Given the description of an element on the screen output the (x, y) to click on. 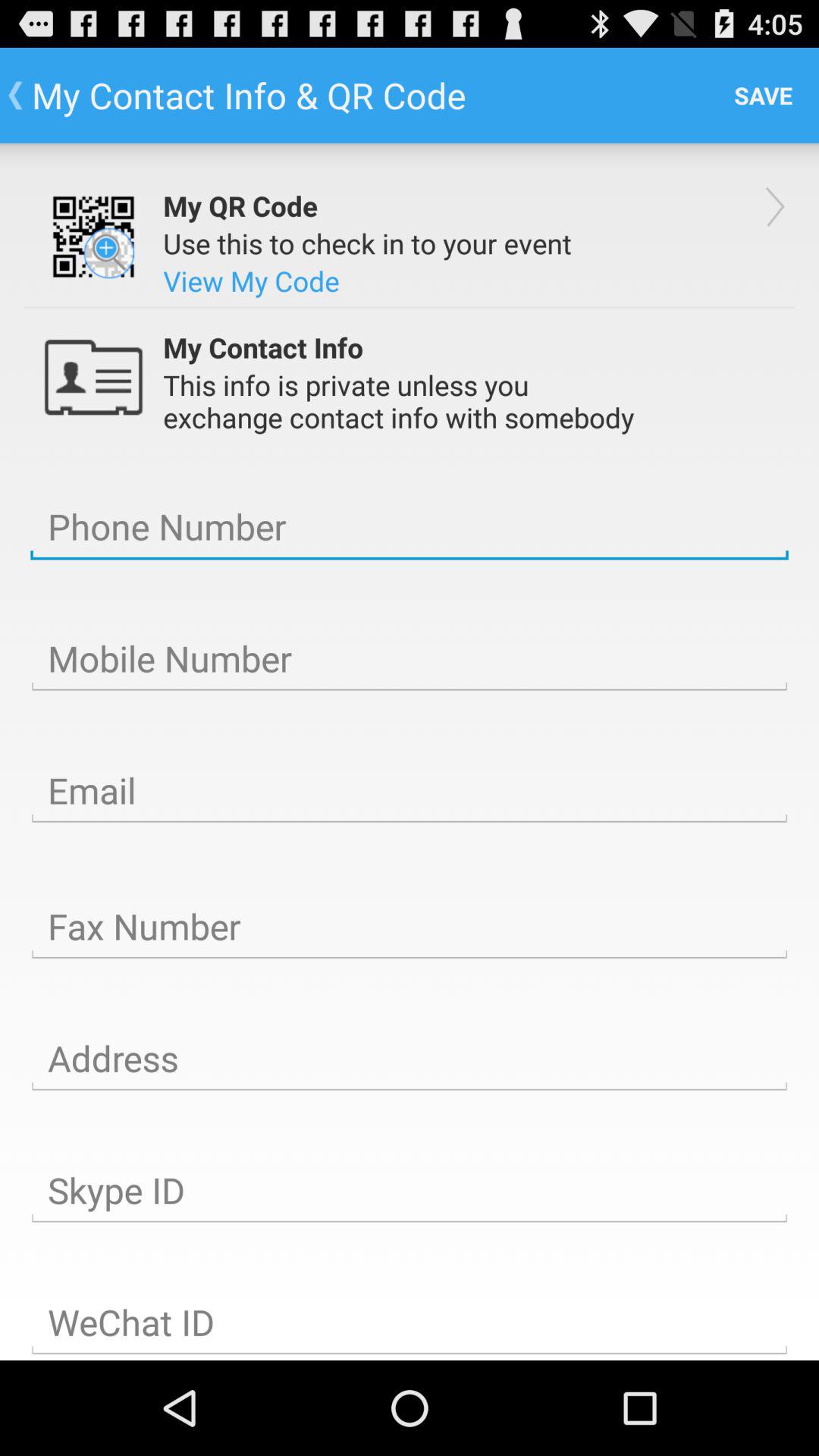
add mobile number line (409, 658)
